Given the description of an element on the screen output the (x, y) to click on. 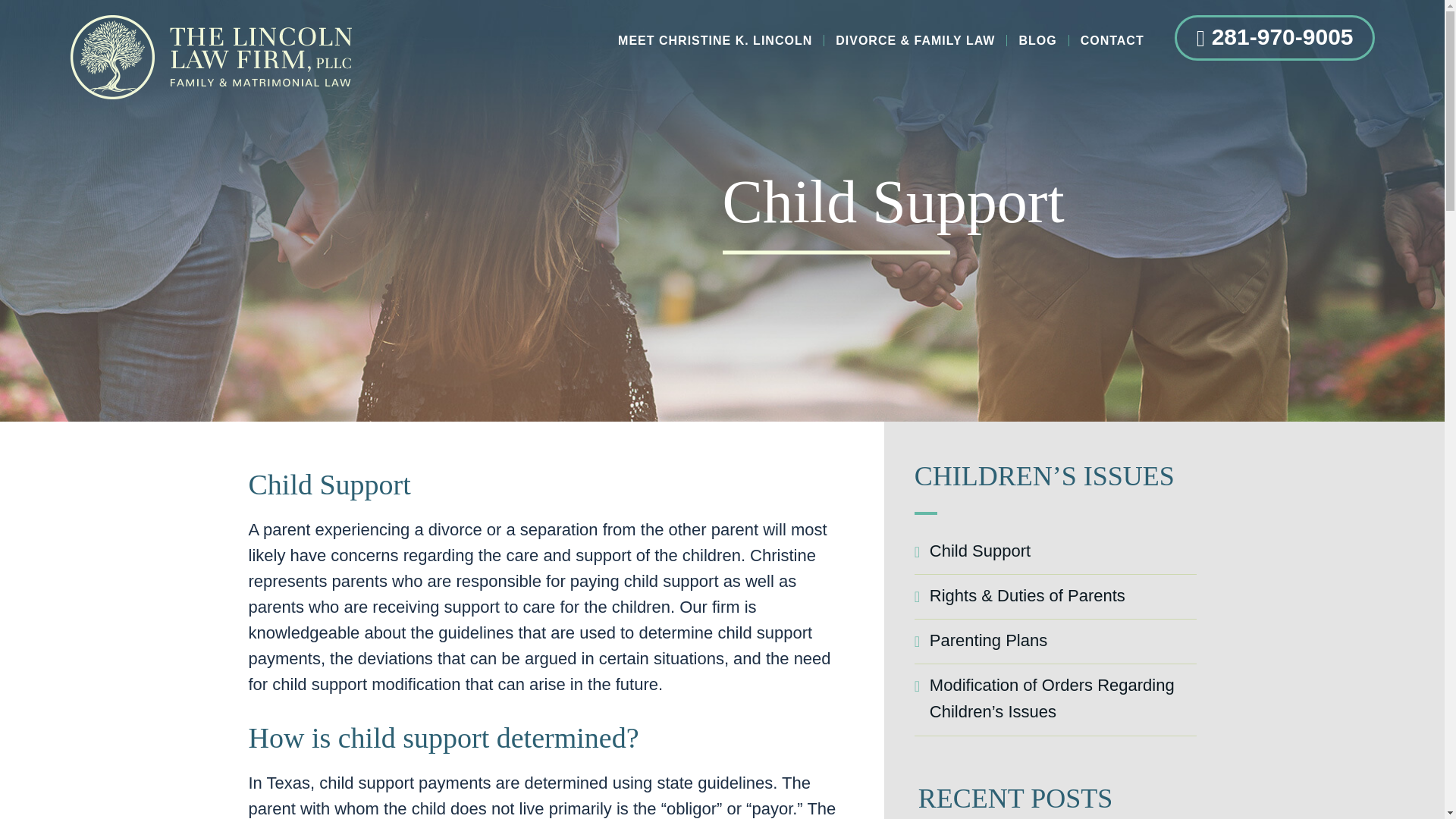
CONTACT (1112, 40)
BLOG (1037, 40)
MEET CHRISTINE K. LINCOLN (715, 40)
281-970-9005 (1274, 37)
